Given the description of an element on the screen output the (x, y) to click on. 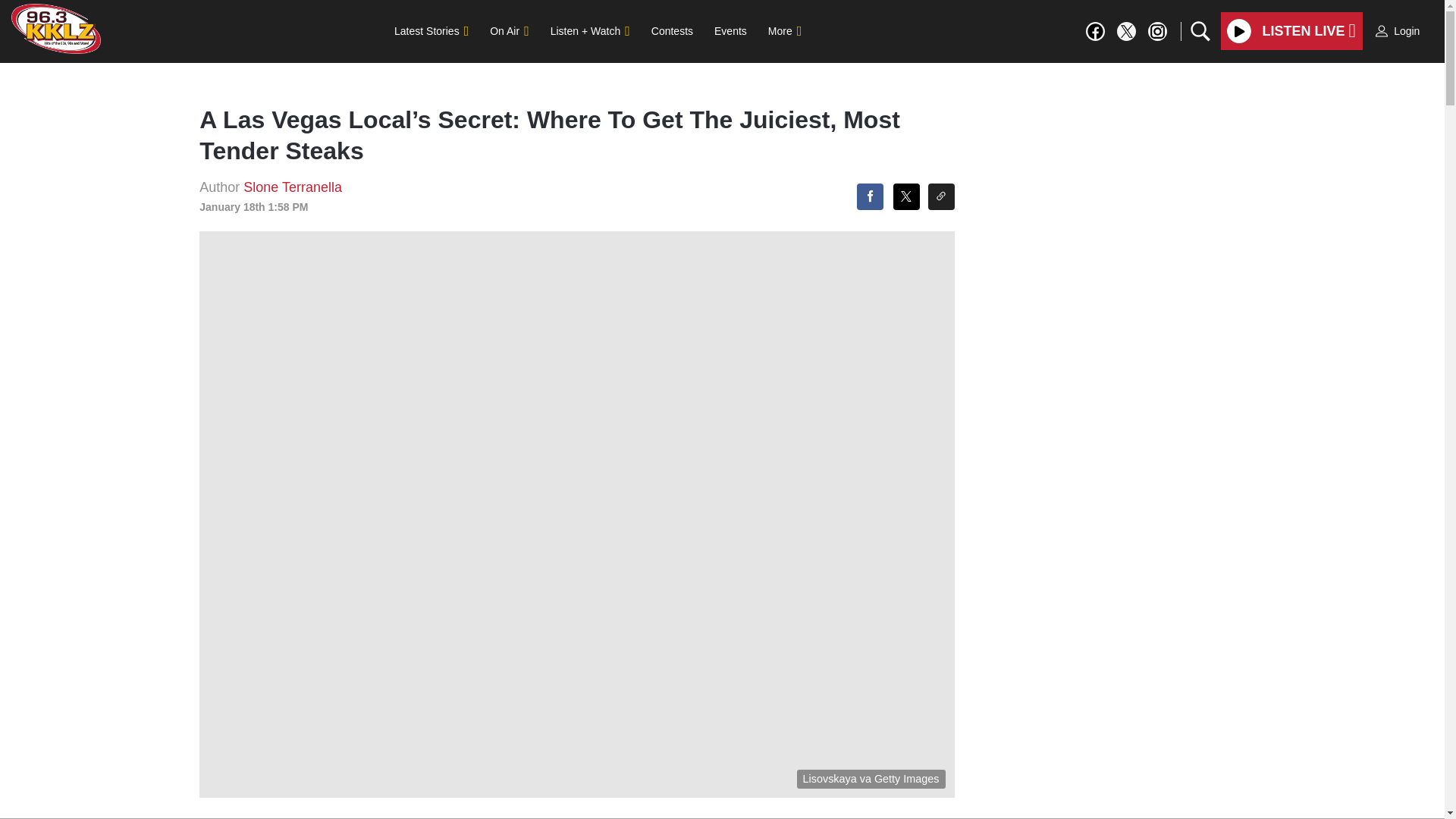
Latest Stories (431, 30)
On Air (508, 30)
Slone Terranella (292, 186)
